Given the description of an element on the screen output the (x, y) to click on. 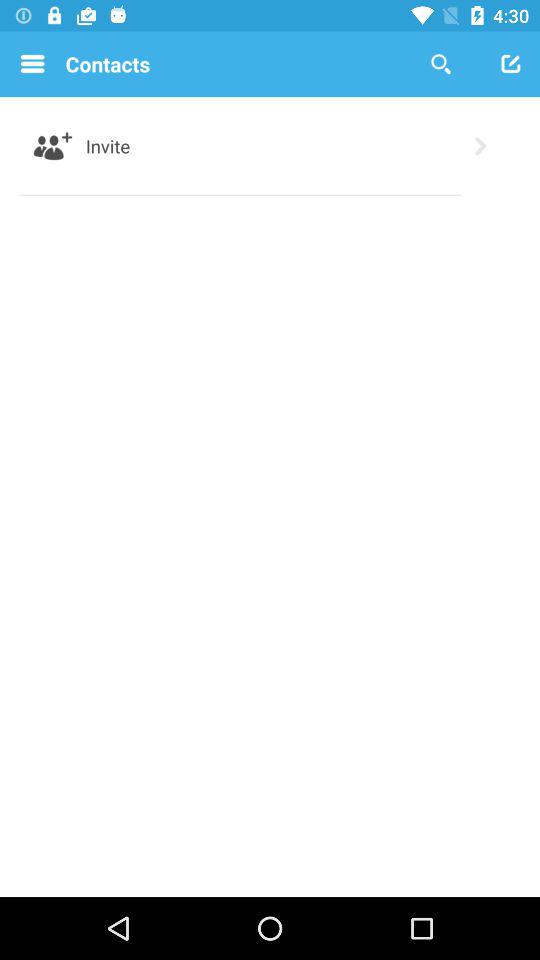
click the invite (107, 145)
